Given the description of an element on the screen output the (x, y) to click on. 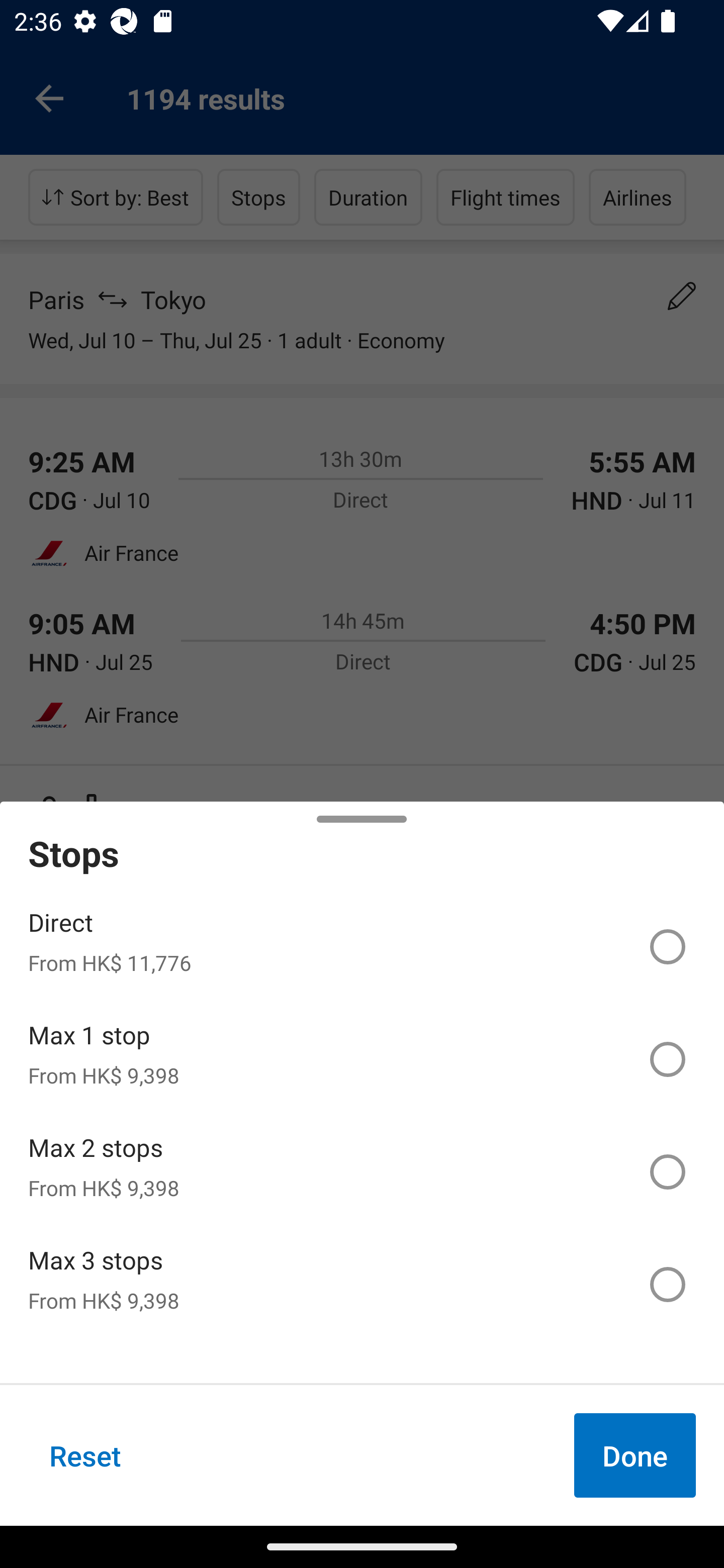
Direct From HK$ 11,776 (362, 946)
Max 1 stop From HK$ 9,398 (362, 1059)
Max 2 stops From HK$ 9,398 (362, 1171)
Max 3 stops From HK$ 9,398 (362, 1283)
Reset (85, 1454)
Done (634, 1454)
